Given the description of an element on the screen output the (x, y) to click on. 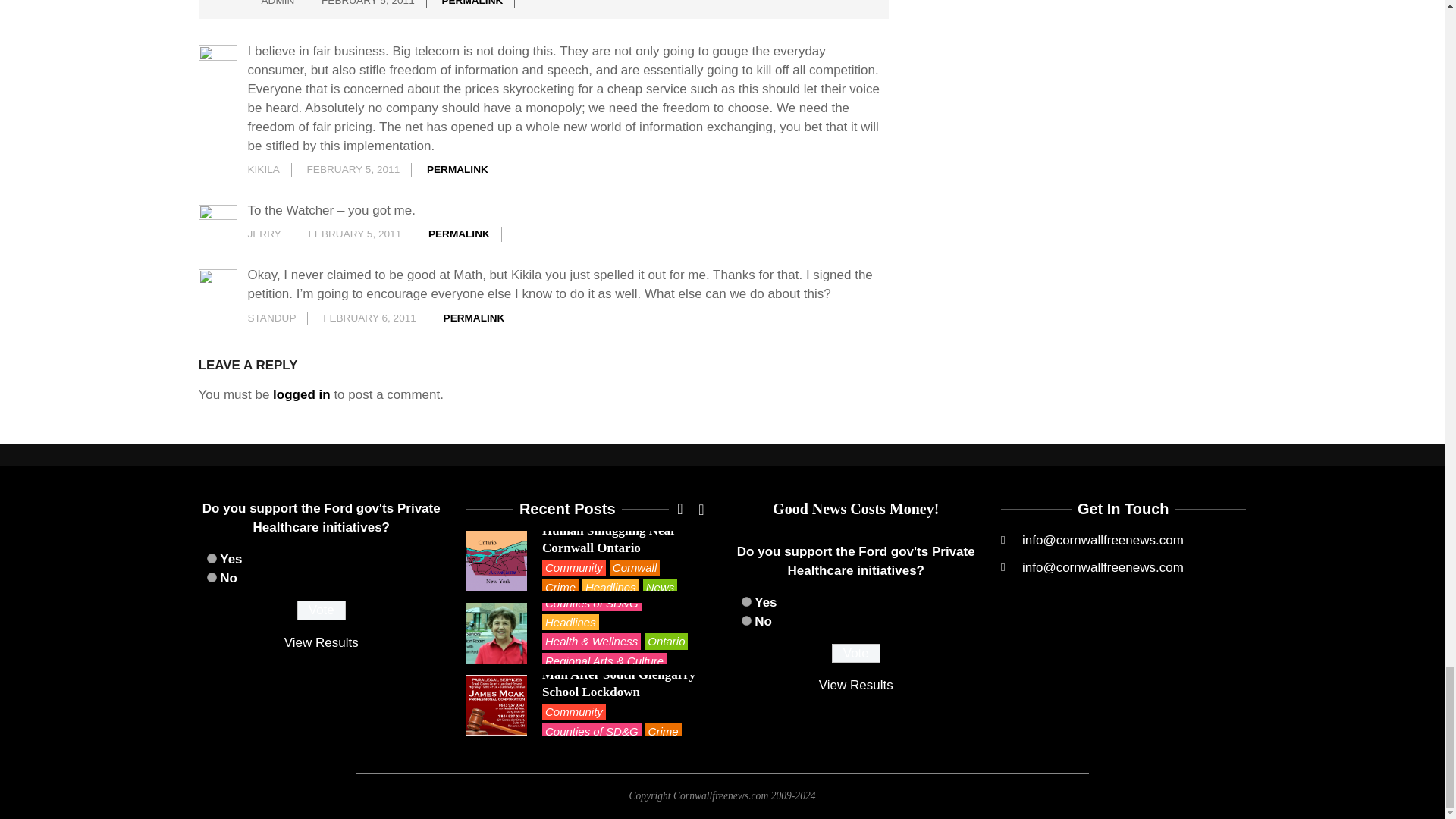
1776 (746, 601)
1777 (210, 577)
1776 (210, 558)
1777 (746, 620)
   Vote    (855, 653)
   Vote    (321, 609)
